Given the description of an element on the screen output the (x, y) to click on. 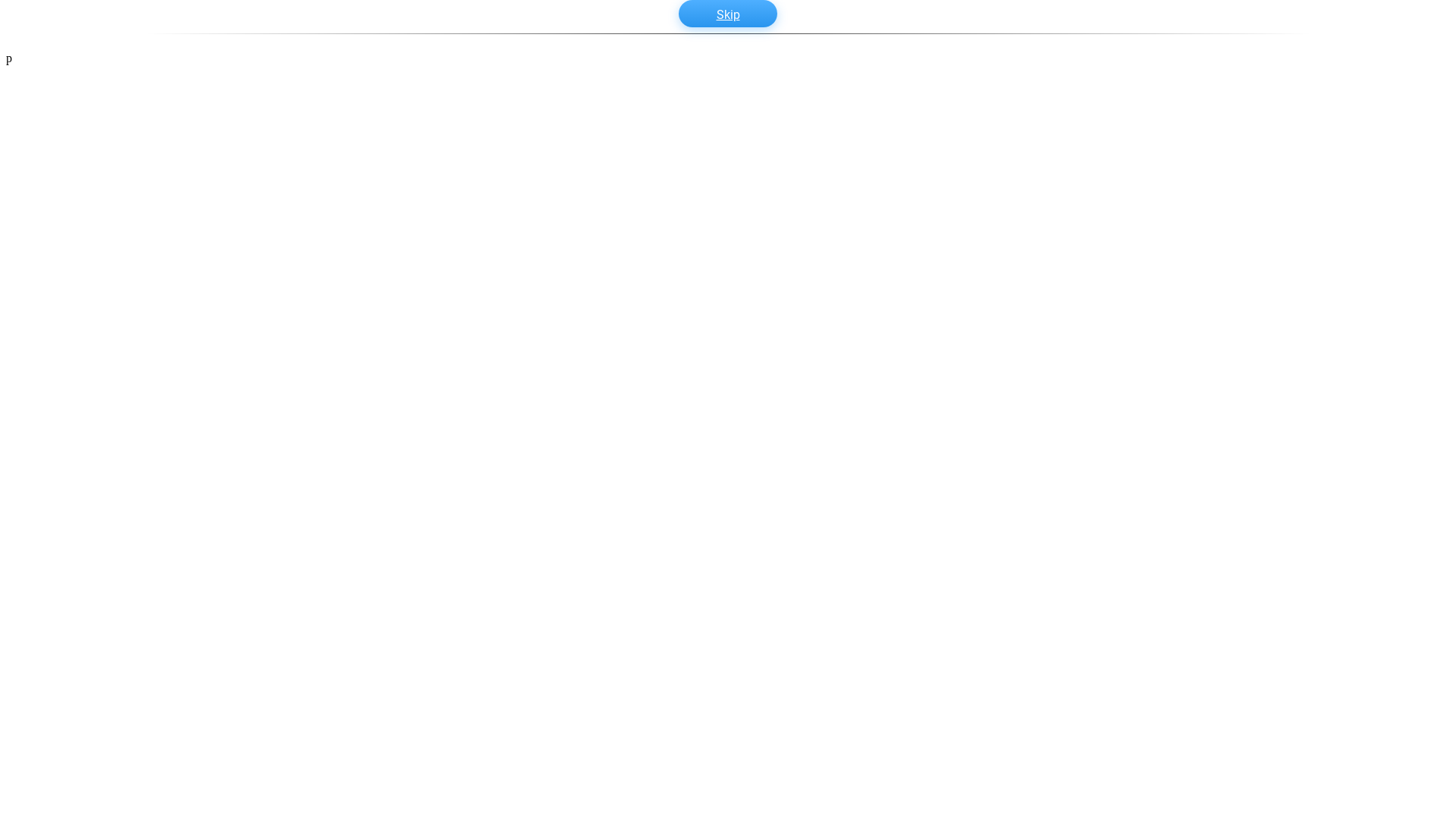
Skip Element type: text (727, 13)
